Given the description of an element on the screen output the (x, y) to click on. 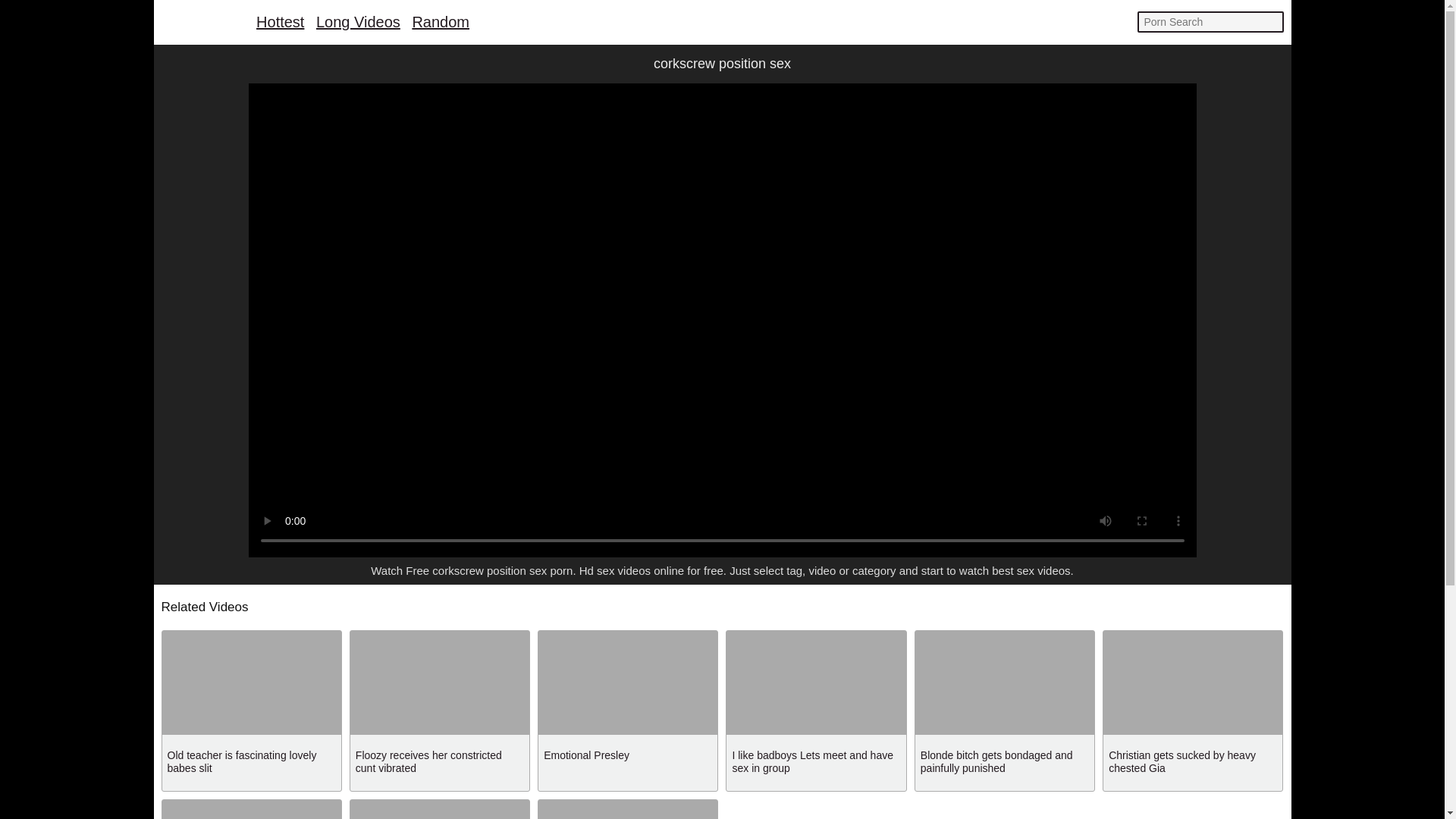
Floozy receives her constricted cunt vibrated (428, 761)
Old teacher is fascinating lovely babes slit (241, 761)
Hottest Videos (280, 21)
I like badboys Lets meet and have sex in group (812, 761)
Random (440, 21)
Emotional Presley (585, 755)
Longest HD Porn Videos (357, 21)
Floozy receives her constricted cunt vibrated (428, 761)
Hottest (280, 21)
Old teacher is fascinating lovely babes slit (241, 761)
Random Videos (440, 21)
Blonde bitch gets bondaged and painfully punished (996, 761)
Emotional Presley (585, 755)
Long Videos (357, 21)
